Given the description of an element on the screen output the (x, y) to click on. 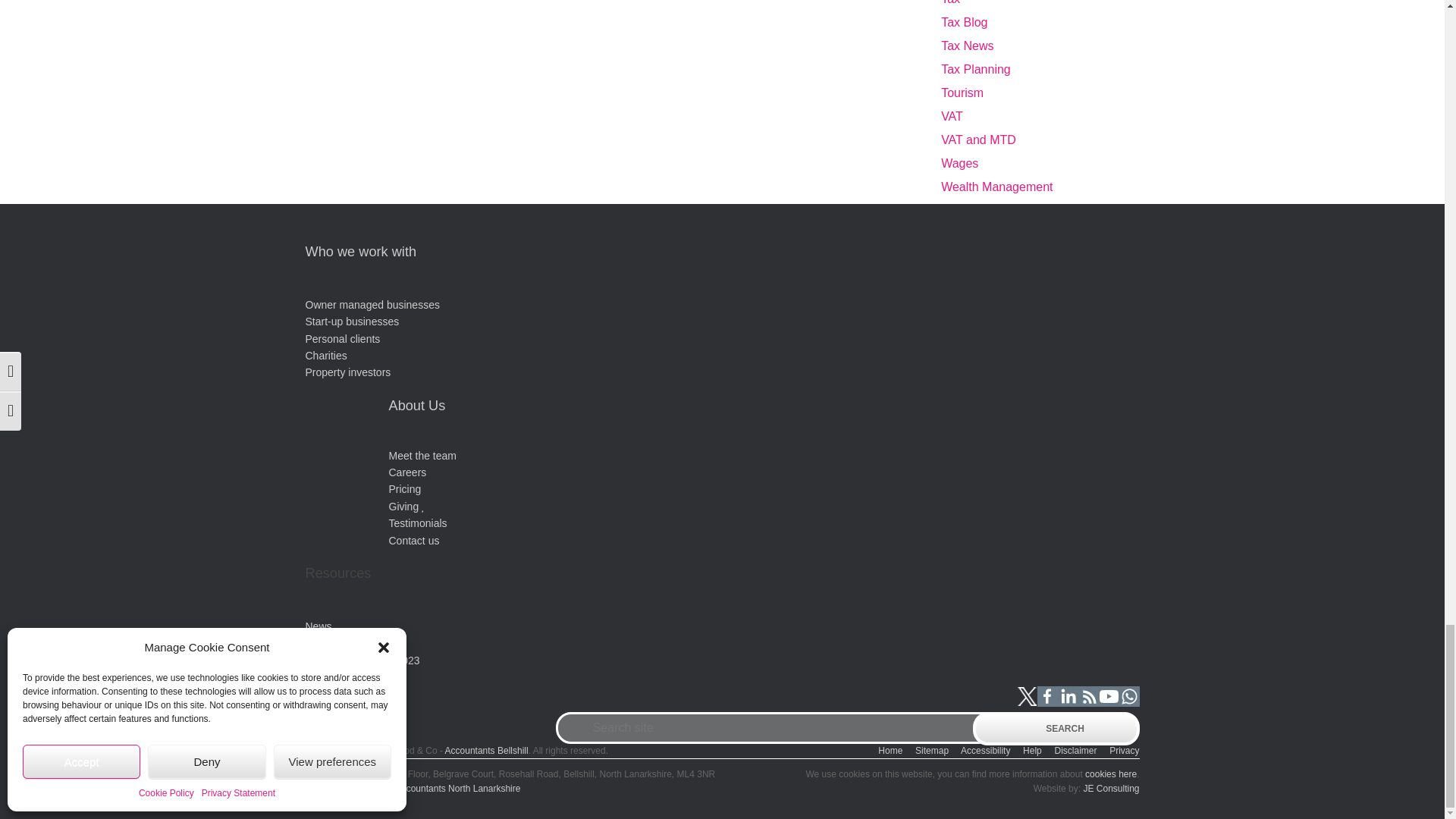
SEARCH (1055, 728)
